Given the description of an element on the screen output the (x, y) to click on. 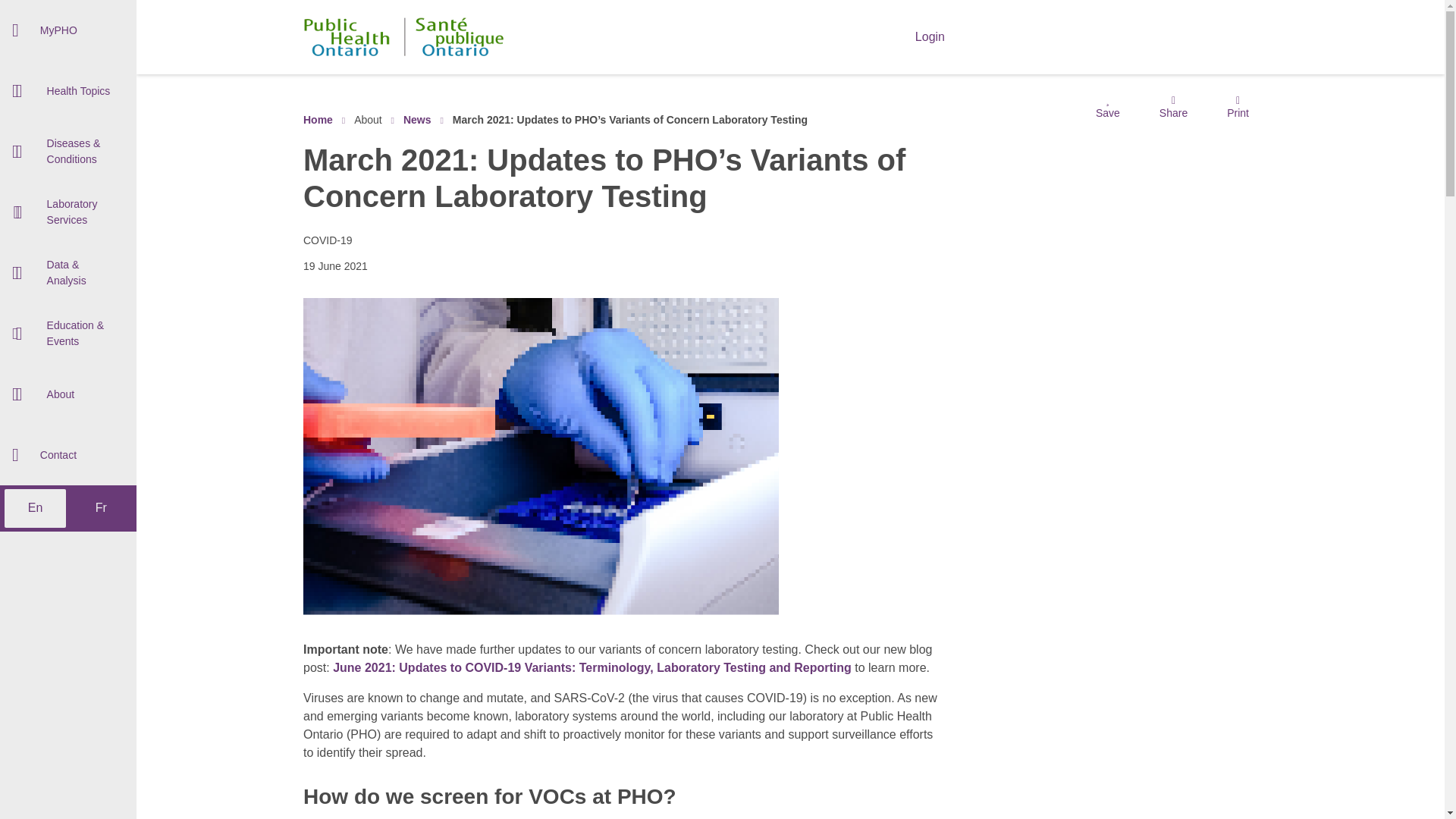
Water Quality (68, 291)
Health Hazards (68, 251)
Health Topics (68, 90)
Antimicrobial Stewardship in Primary Care (68, 156)
Urinary Tract Infection Program (68, 302)
MyPHO (68, 30)
Mental Health (68, 274)
Emergency Preparedness (68, 115)
Equipment Loan Program (68, 133)
Antimicrobial Stewardship (68, 76)
